Given the description of an element on the screen output the (x, y) to click on. 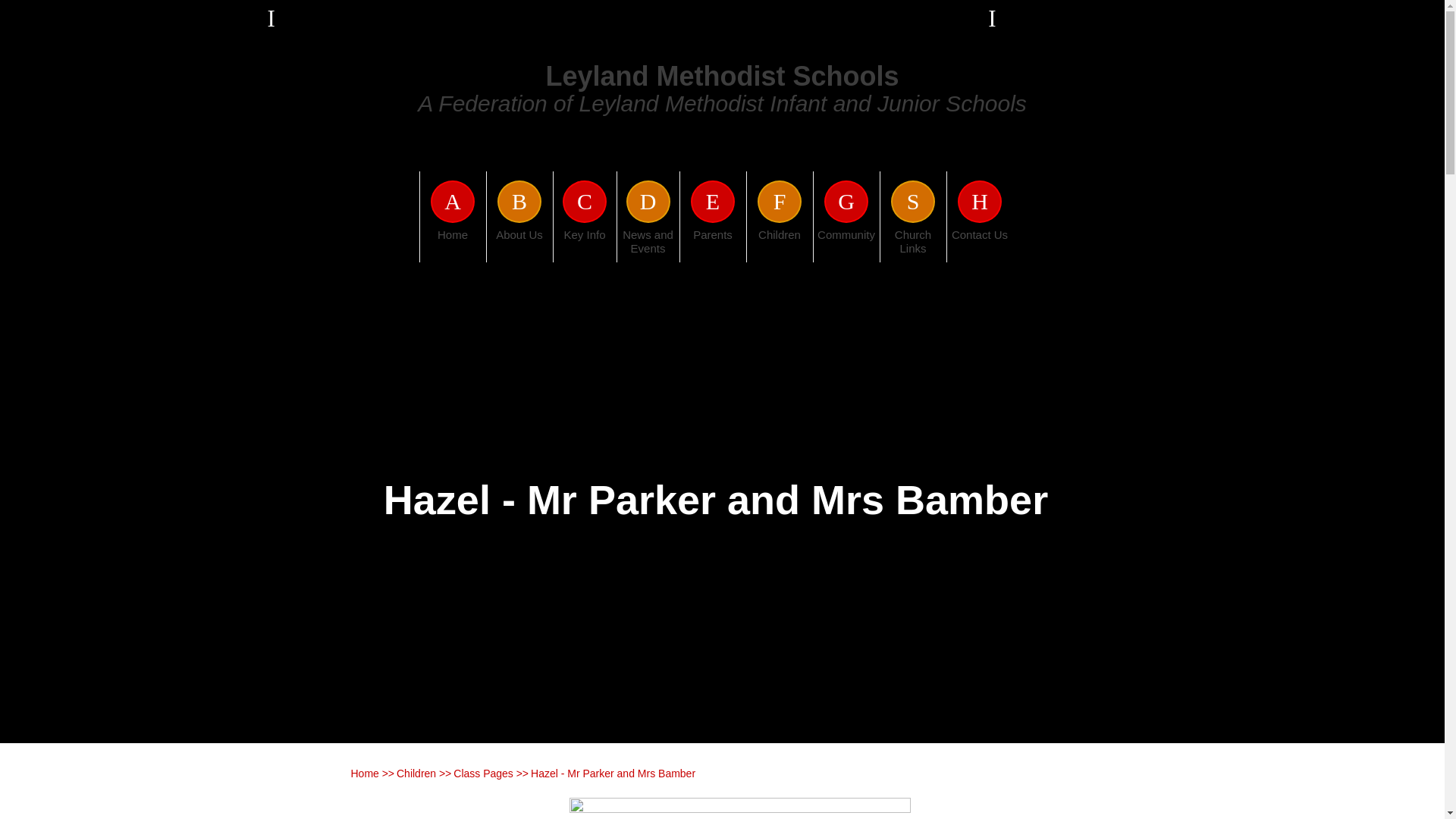
Home (453, 245)
Home Page (306, 96)
Home Page (306, 96)
Key Info (584, 245)
About Us (519, 245)
